Given the description of an element on the screen output the (x, y) to click on. 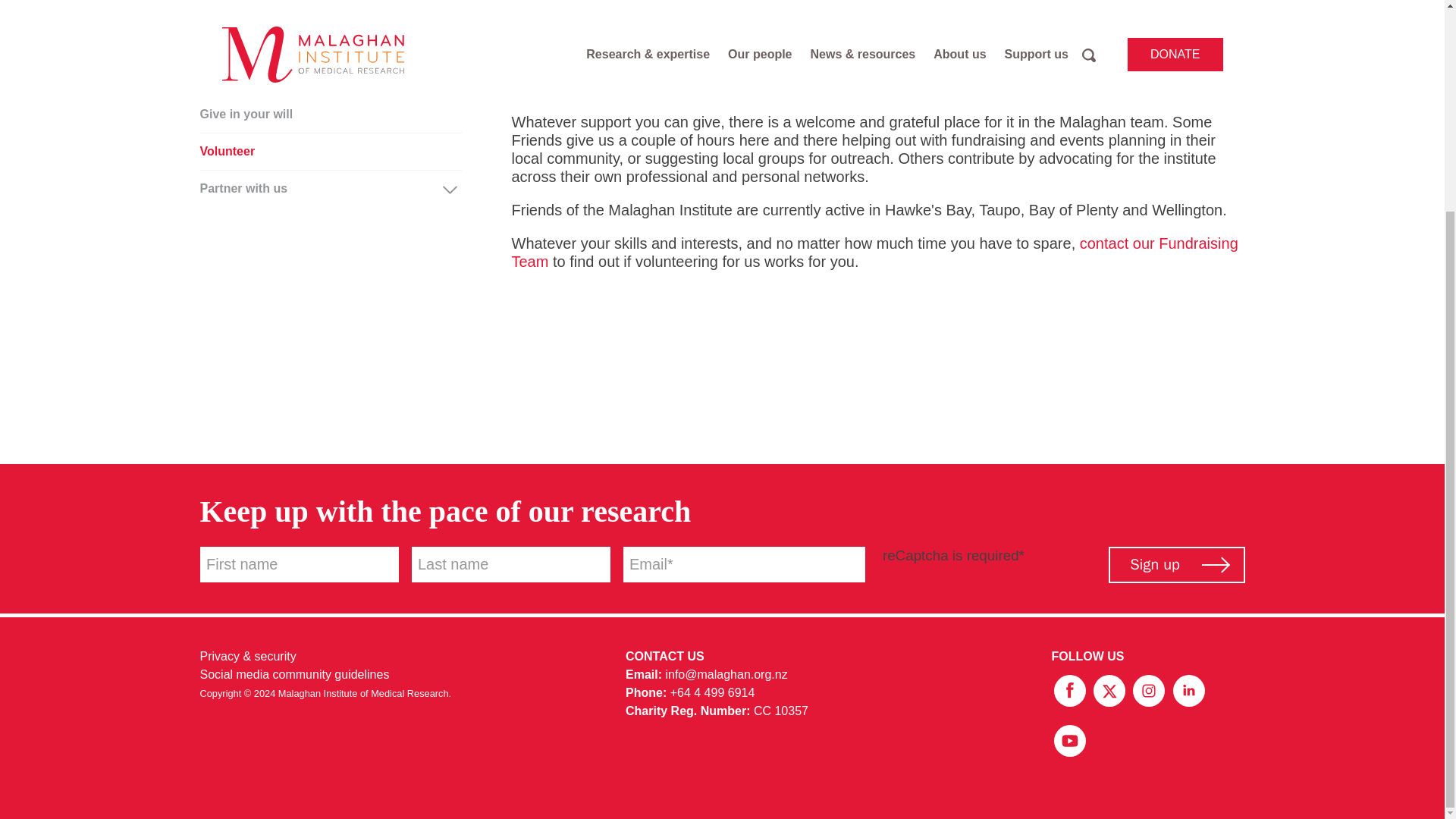
X (1110, 689)
Instagram (1150, 689)
YouTube (1069, 739)
Facebook (1070, 689)
LinkedIn (1188, 689)
